Given the description of an element on the screen output the (x, y) to click on. 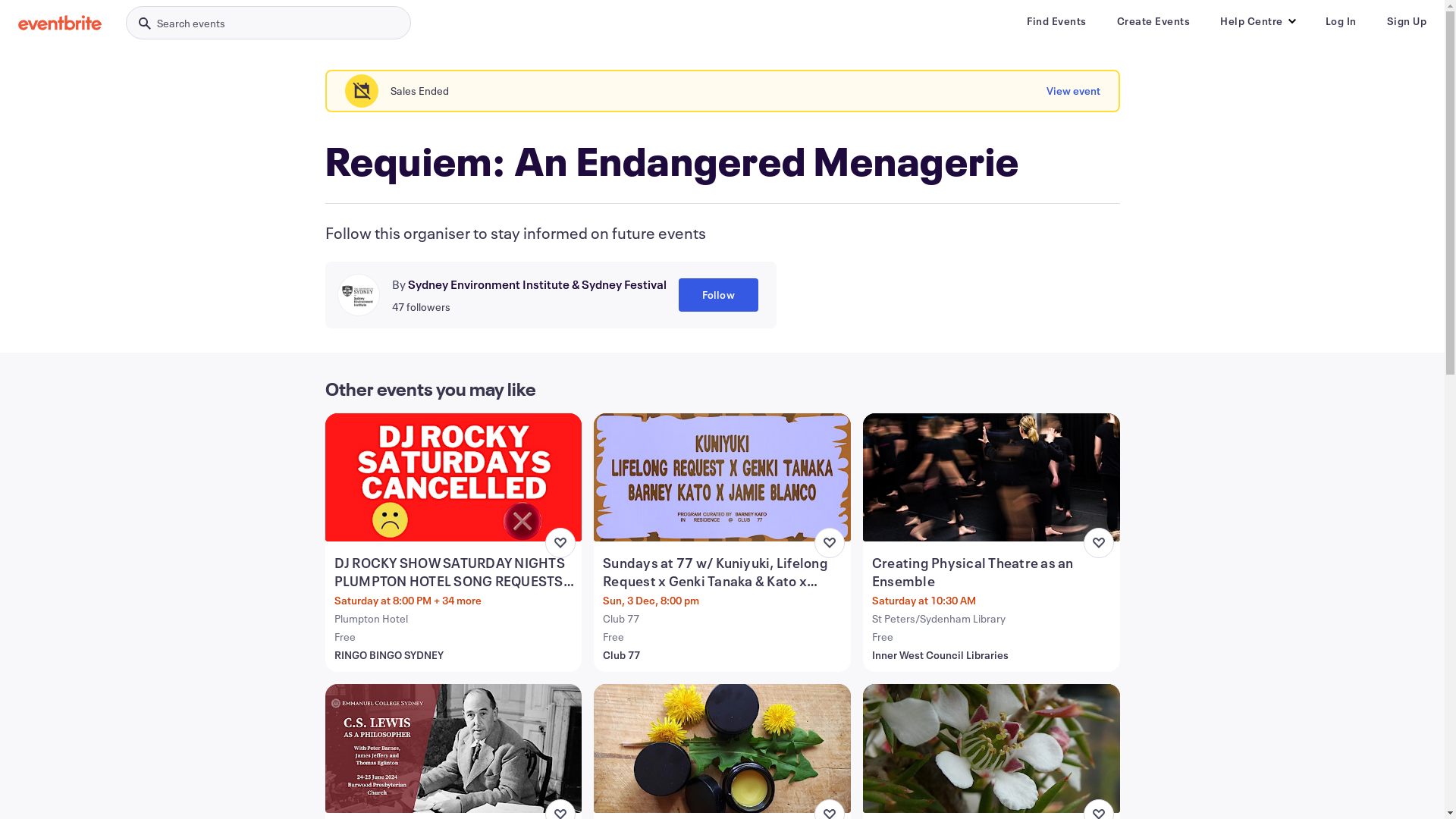
Create Events Element type: text (1152, 21)
Find Events Element type: text (1056, 21)
Creating Physical Theatre as an Ensemble Element type: text (992, 571)
View event Element type: text (1073, 90)
Follow Element type: text (717, 294)
Sign Up Element type: text (1406, 21)
Log In Element type: text (1340, 21)
Eventbrite Element type: hover (59, 22)
Search events Element type: text (268, 22)
